Given the description of an element on the screen output the (x, y) to click on. 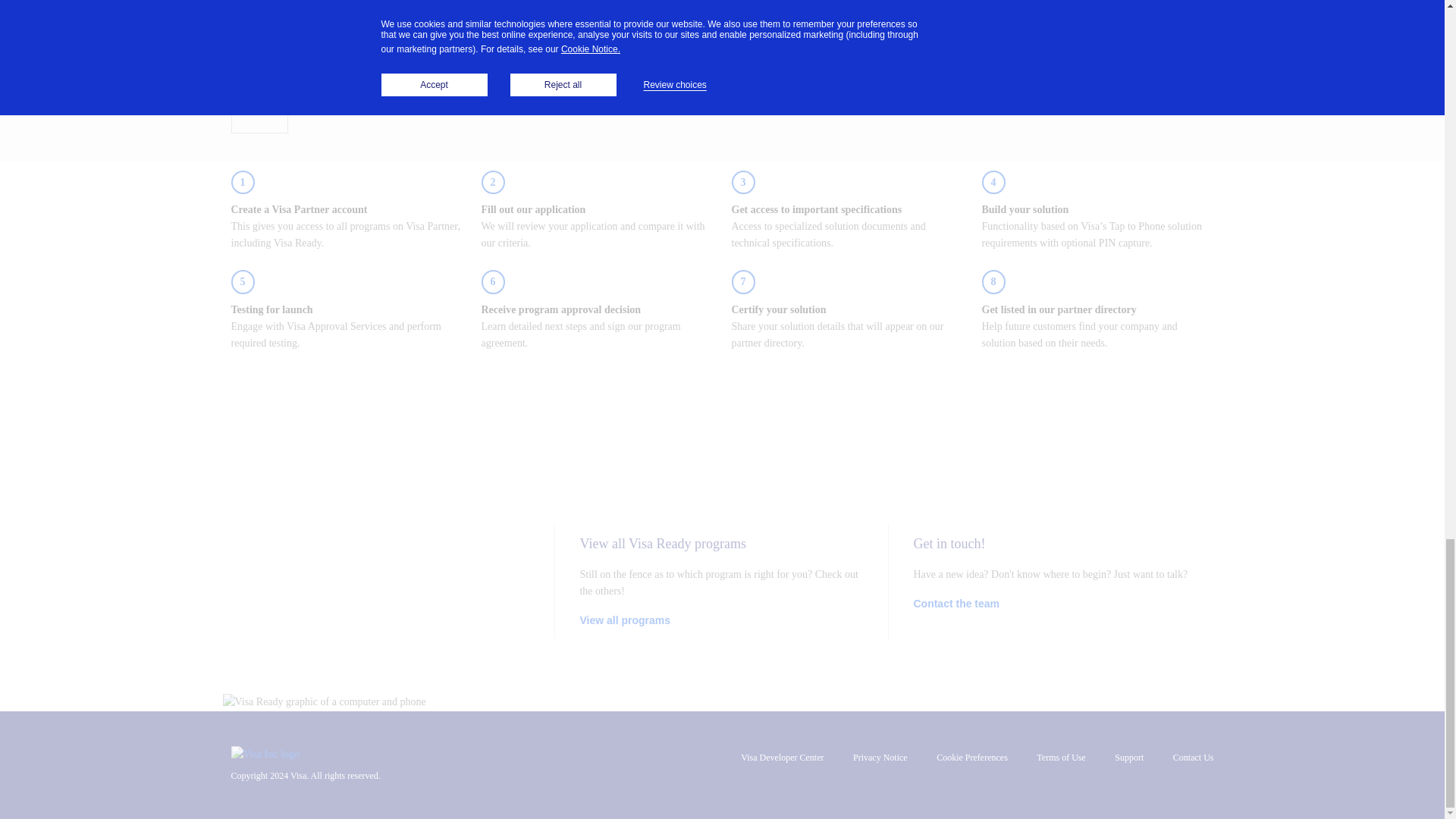
Contact the team (955, 603)
View all programs (624, 619)
Visa Developer Center (782, 757)
Privacy Notice (880, 757)
